Given the description of an element on the screen output the (x, y) to click on. 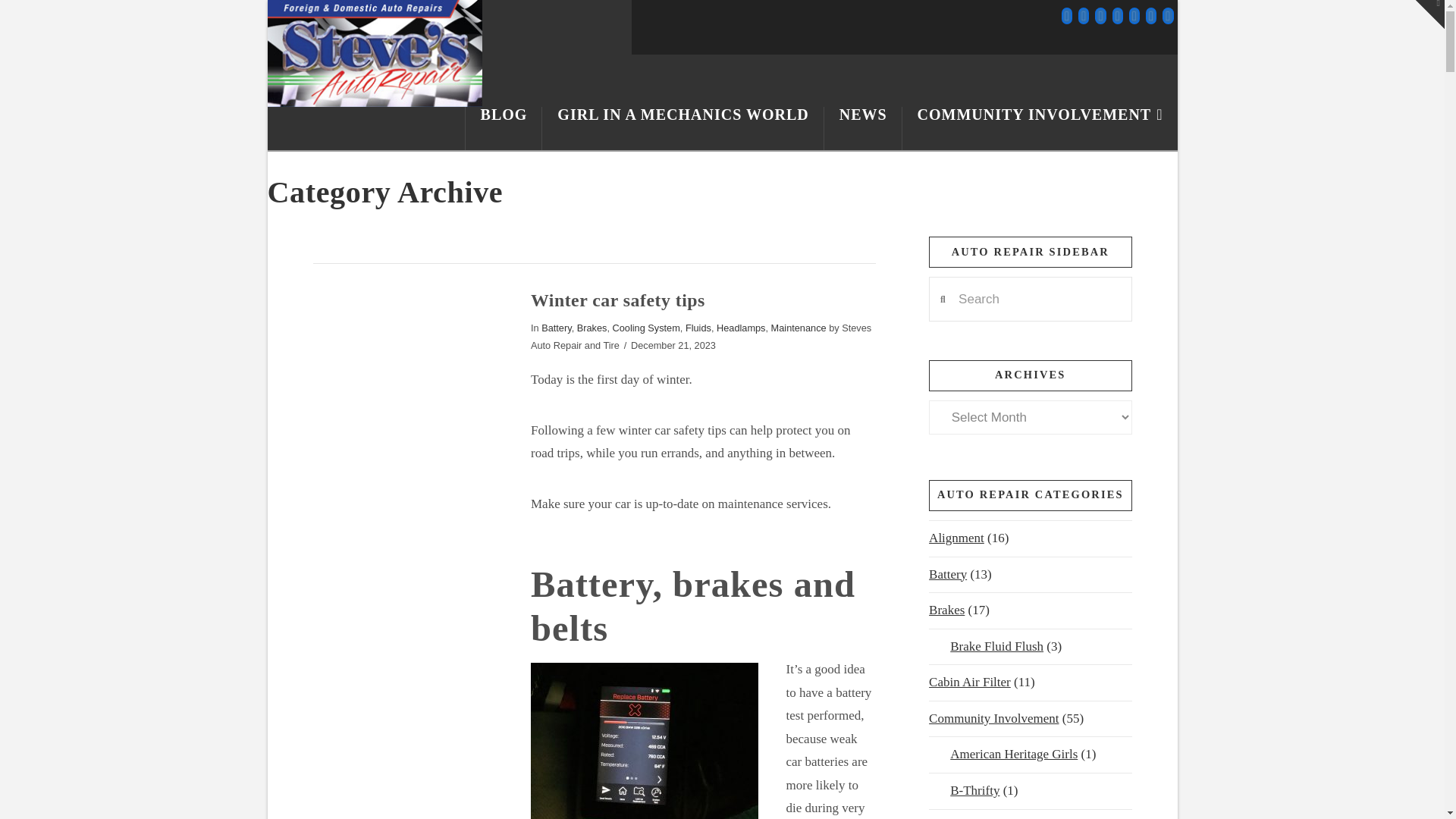
GIRL IN A MECHANICS WORLD (682, 128)
COMMUNITY INVOLVEMENT (1039, 128)
BLOG (503, 128)
Battery (555, 327)
NEWS (863, 128)
Winter car safety tips (617, 300)
News and Press Releases (863, 128)
